Given the description of an element on the screen output the (x, y) to click on. 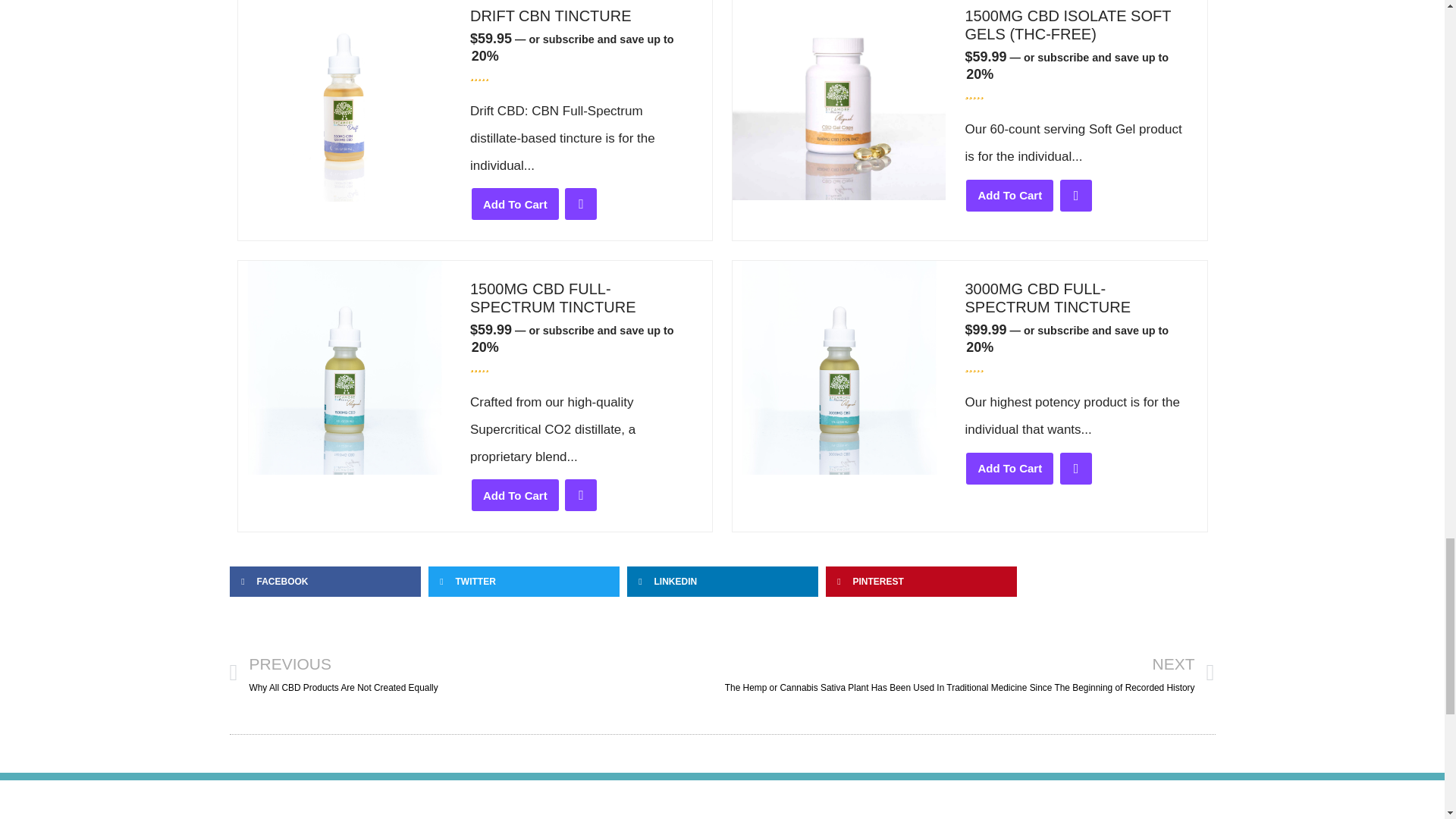
Add To Cart (515, 495)
3000MG CBD FULL-SPECTRUM TINCTURE (1075, 298)
DRIFT CBN TINCTURE (581, 15)
Add To Cart (1009, 195)
1500MG CBD FULL-SPECTRUM TINCTURE (581, 298)
Add To Cart (515, 204)
